Given the description of an element on the screen output the (x, y) to click on. 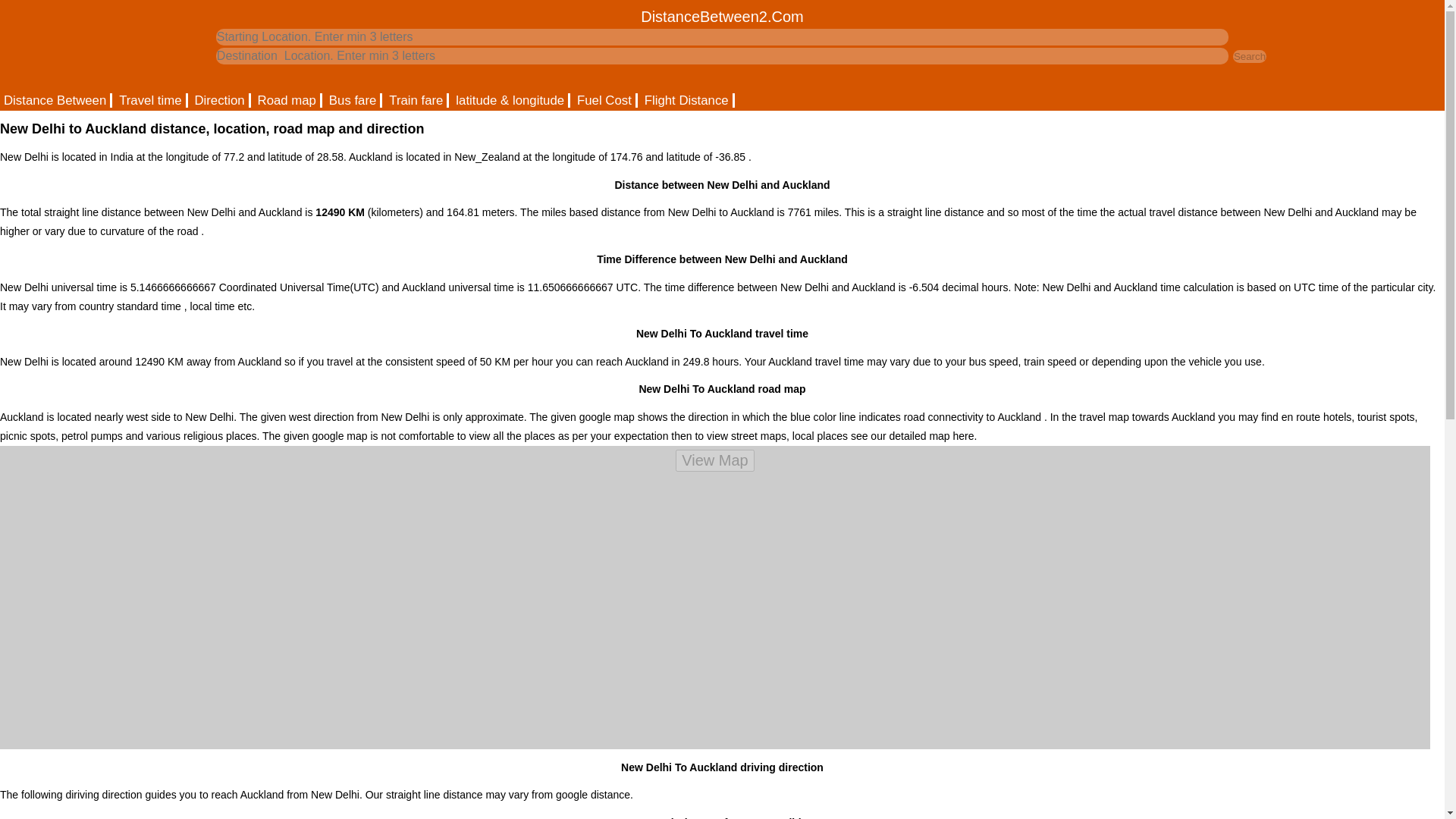
Train fare (416, 100)
Search (1249, 56)
View Map (714, 460)
Search (1249, 56)
Road map (287, 100)
Distance Between (56, 100)
Flight Distance (687, 100)
Bus fare (353, 100)
Fuel Cost (605, 100)
Direction (220, 100)
